Given the description of an element on the screen output the (x, y) to click on. 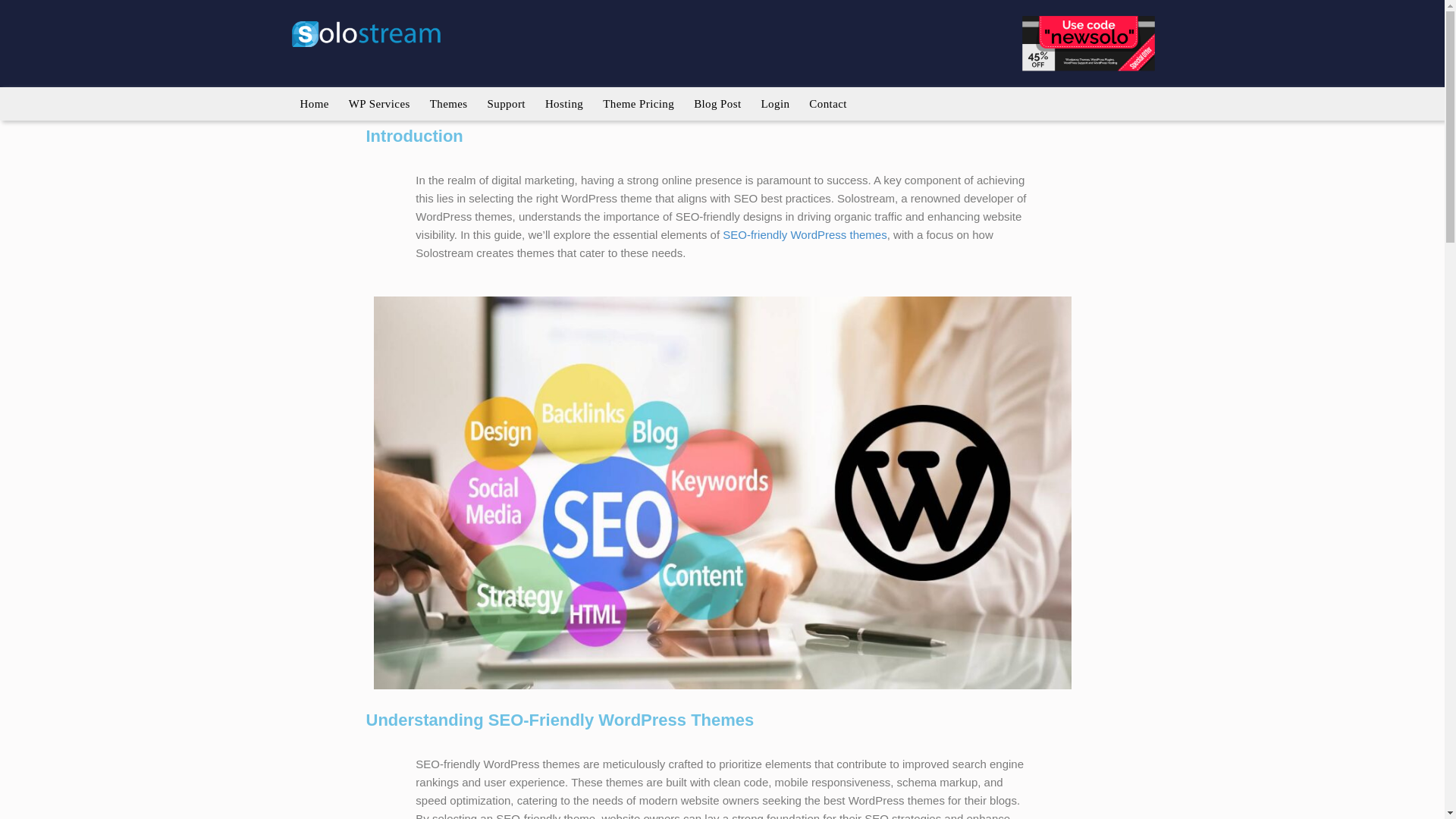
SEO-friendly WordPress themes (804, 234)
Theme Pricing (637, 103)
Login (775, 103)
WP Services (379, 103)
Blog Post (716, 103)
Support (506, 103)
Hosting (563, 103)
Home (314, 103)
Contact (827, 103)
Premium WordPress Themes (448, 103)
